Given the description of an element on the screen output the (x, y) to click on. 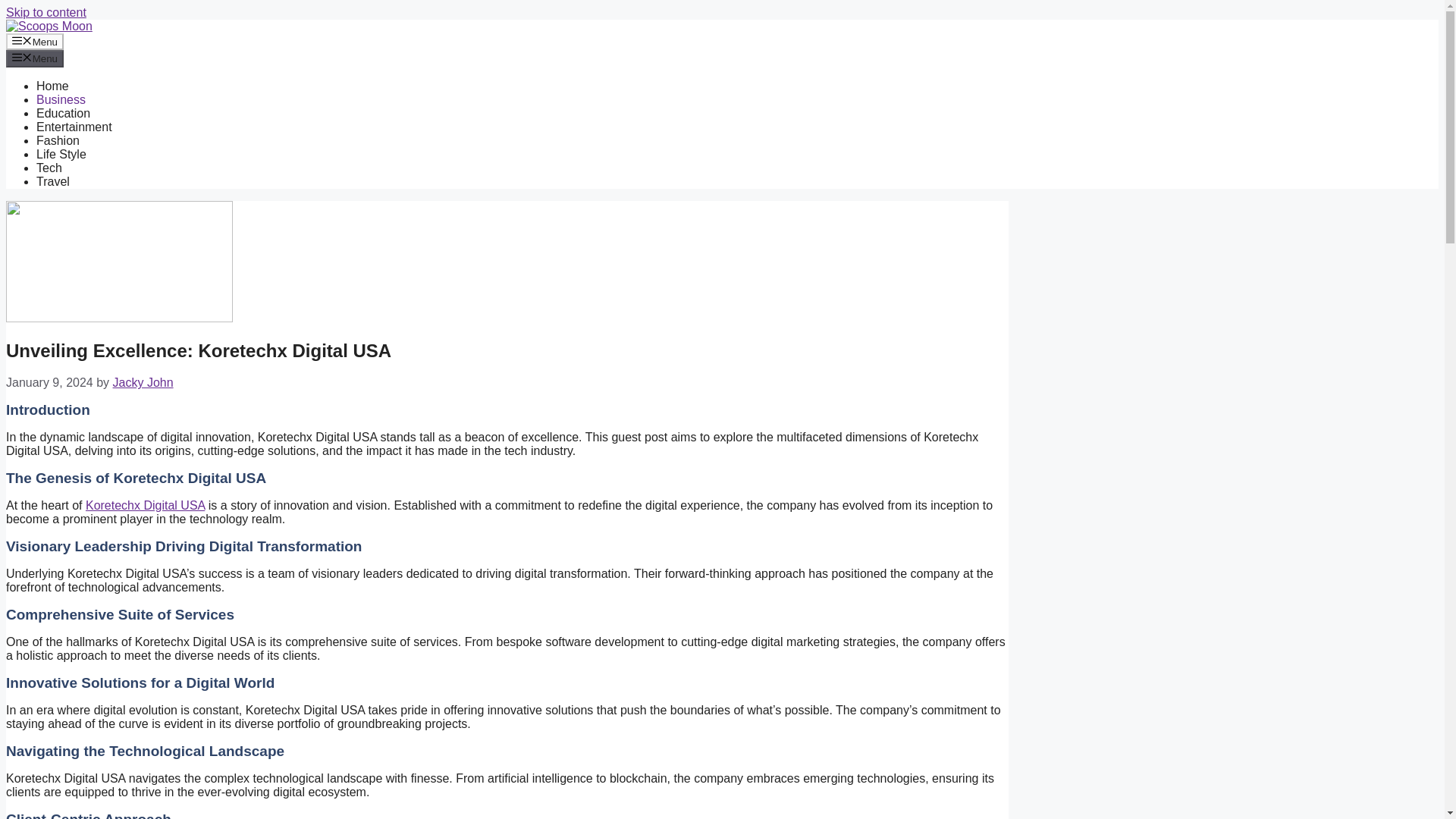
Fashion (58, 140)
Koretechx Digital USA (145, 504)
Home (52, 85)
Menu (34, 41)
Tech (49, 167)
Education (63, 113)
Skip to content (45, 11)
Travel (52, 181)
Menu (34, 57)
Skip to content (45, 11)
